Given the description of an element on the screen output the (x, y) to click on. 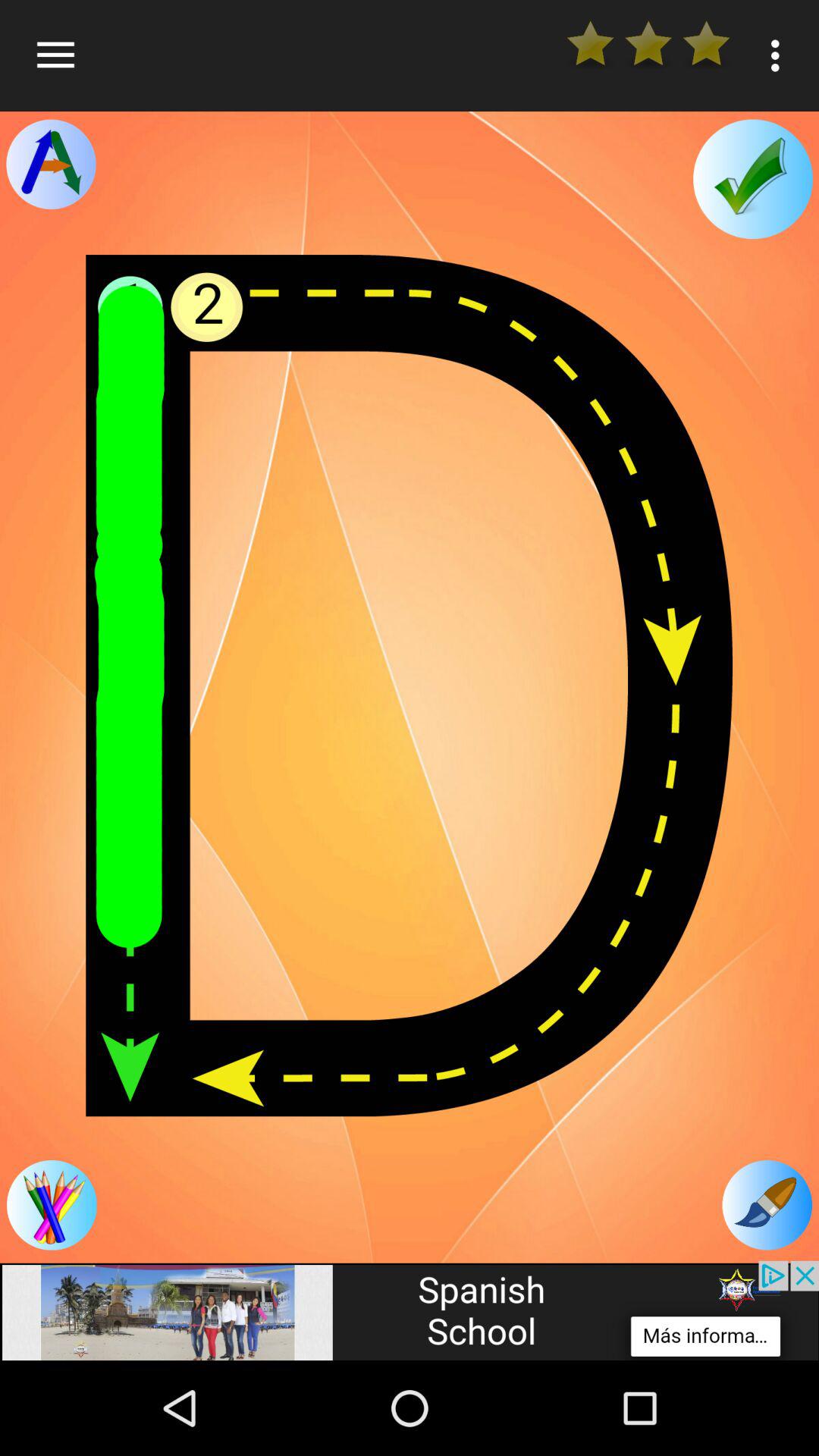
color (51, 1205)
